Given the description of an element on the screen output the (x, y) to click on. 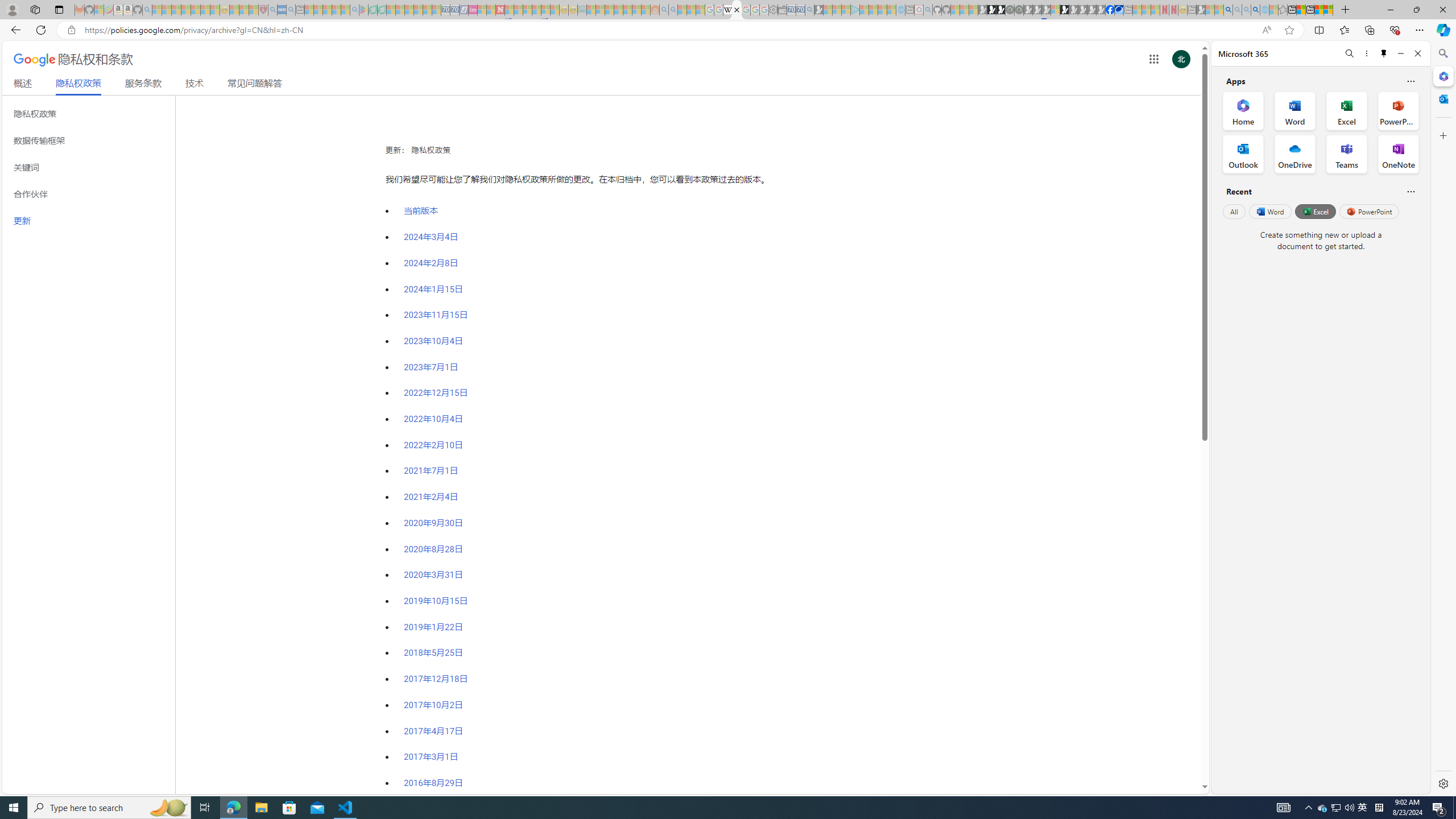
Aberdeen, Hong Kong SAR weather forecast | Microsoft Weather (1300, 9)
Future Focus Report 2024 - Sleeping (1018, 9)
